Given the description of an element on the screen output the (x, y) to click on. 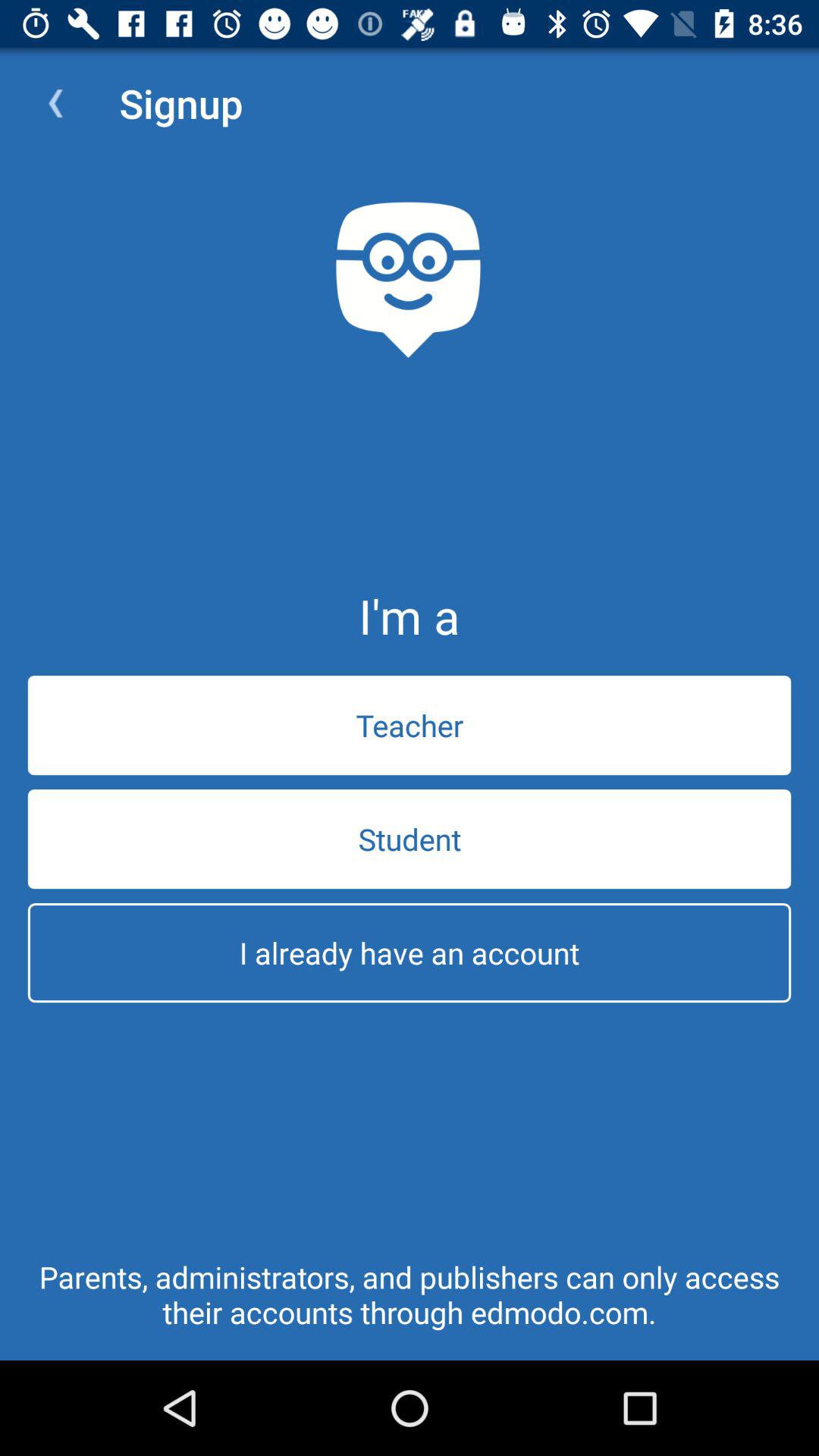
press icon above the student item (409, 725)
